Given the description of an element on the screen output the (x, y) to click on. 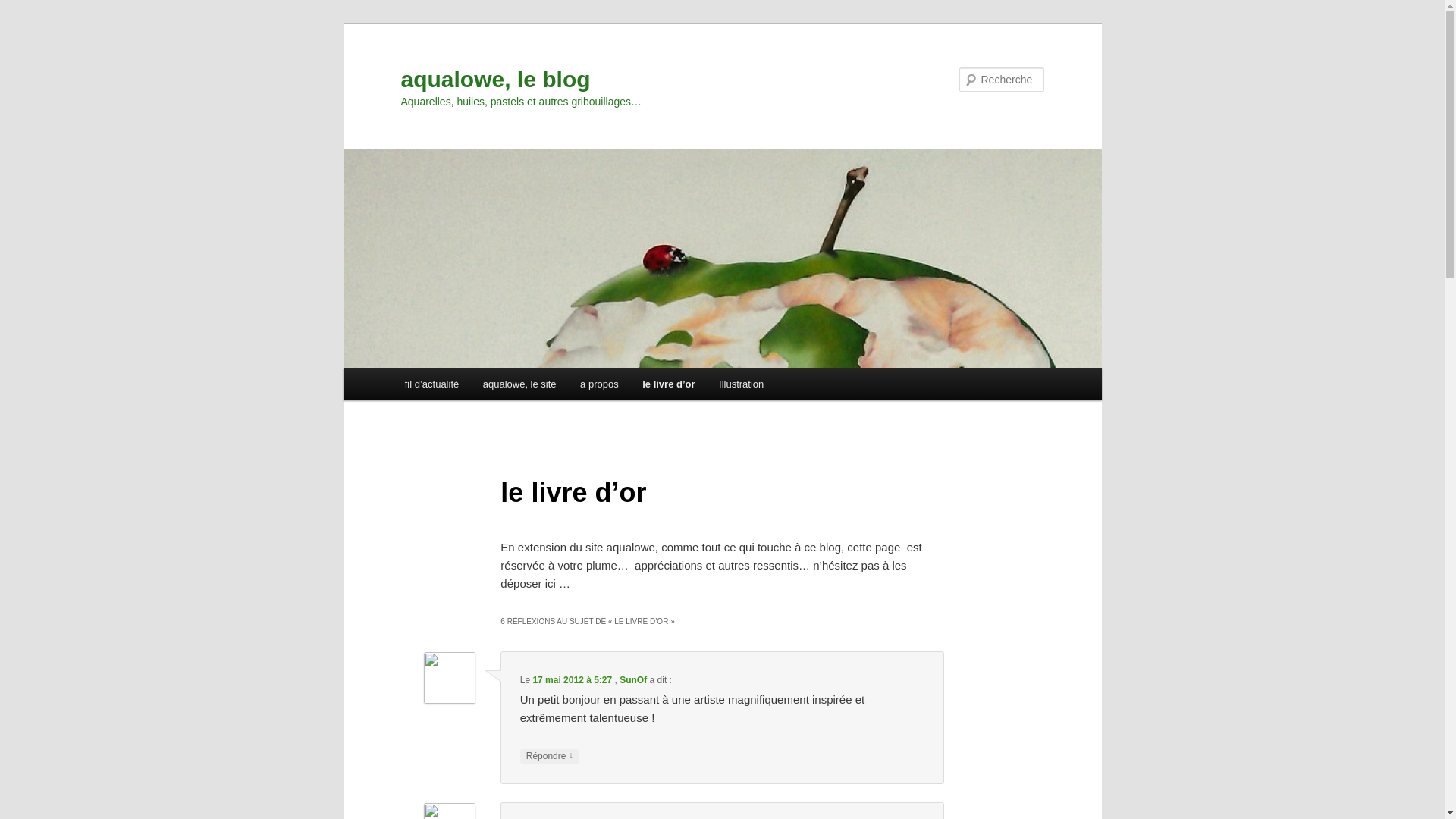
aqualowe, le blog Element type: text (494, 78)
Recherche Element type: text (33, 8)
a propos Element type: text (598, 383)
Aller au contenu principal Element type: text (477, 386)
Aller au contenu secondaire Element type: text (484, 386)
aqualowe, le site Element type: text (518, 383)
Illustration Element type: text (740, 383)
SunOf Element type: text (632, 679)
